Given the description of an element on the screen output the (x, y) to click on. 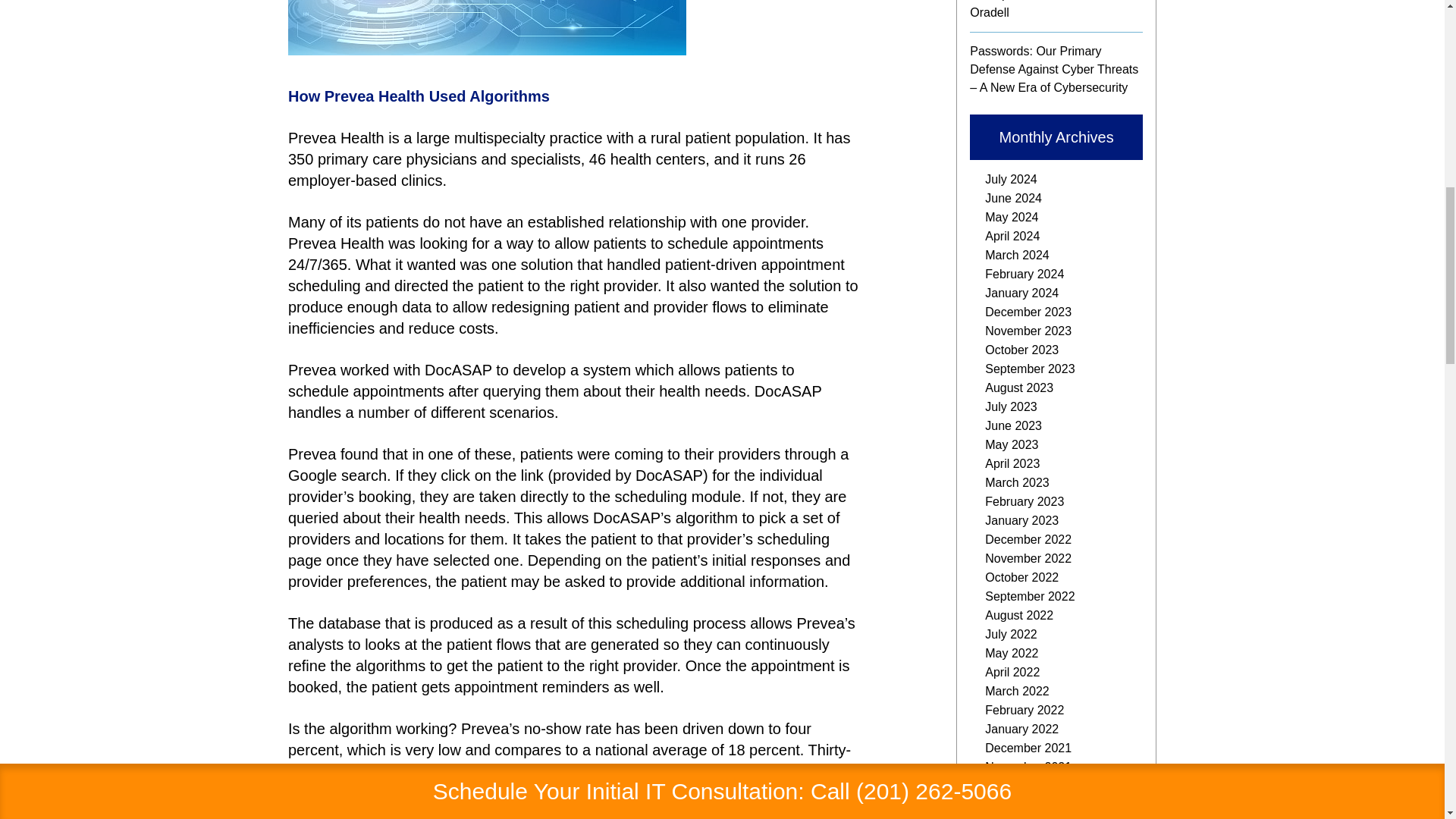
July 2024 (1010, 178)
